Given the description of an element on the screen output the (x, y) to click on. 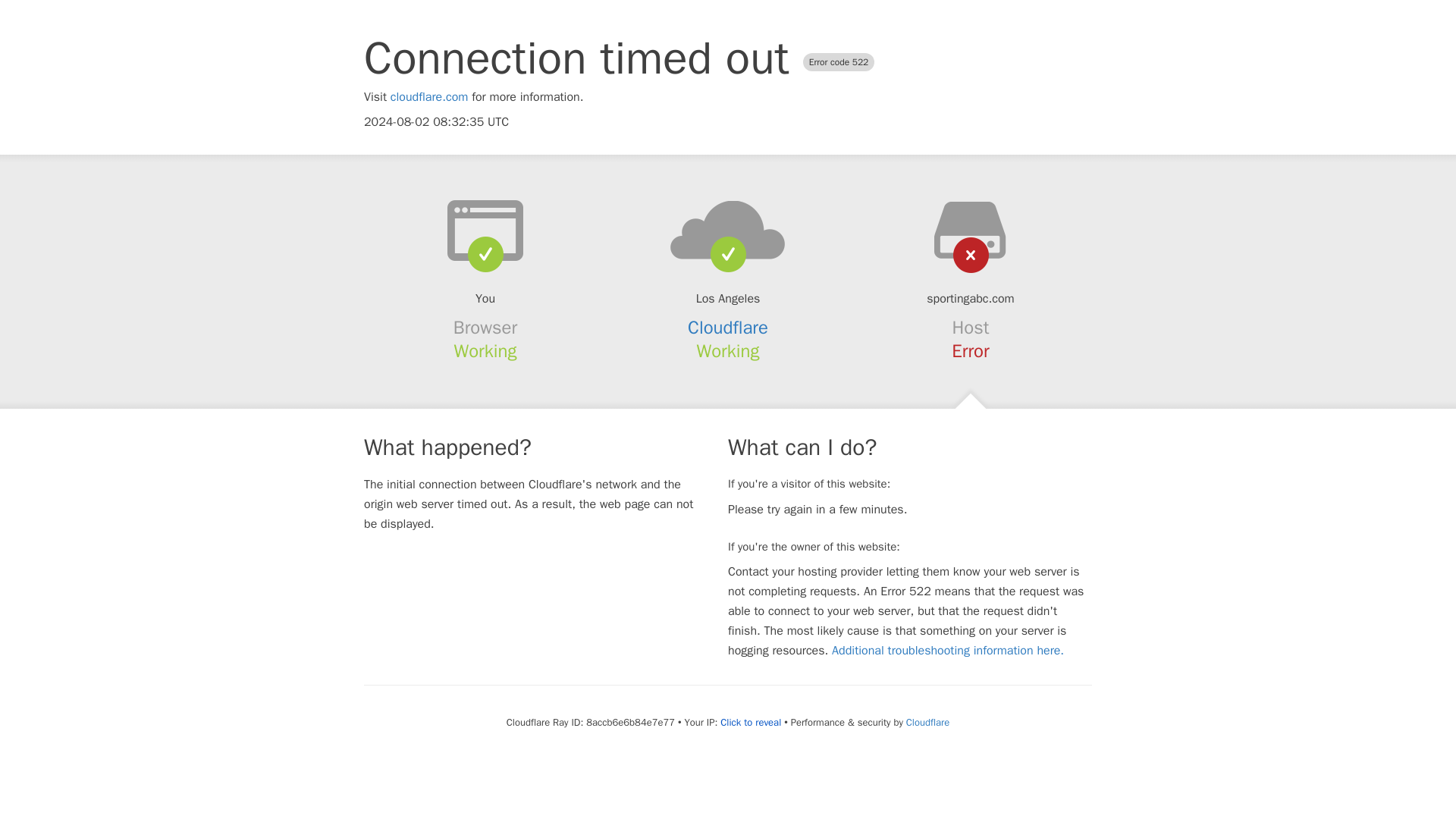
Cloudflare (727, 327)
Additional troubleshooting information here. (947, 650)
cloudflare.com (429, 96)
Cloudflare (927, 721)
Click to reveal (750, 722)
